Given the description of an element on the screen output the (x, y) to click on. 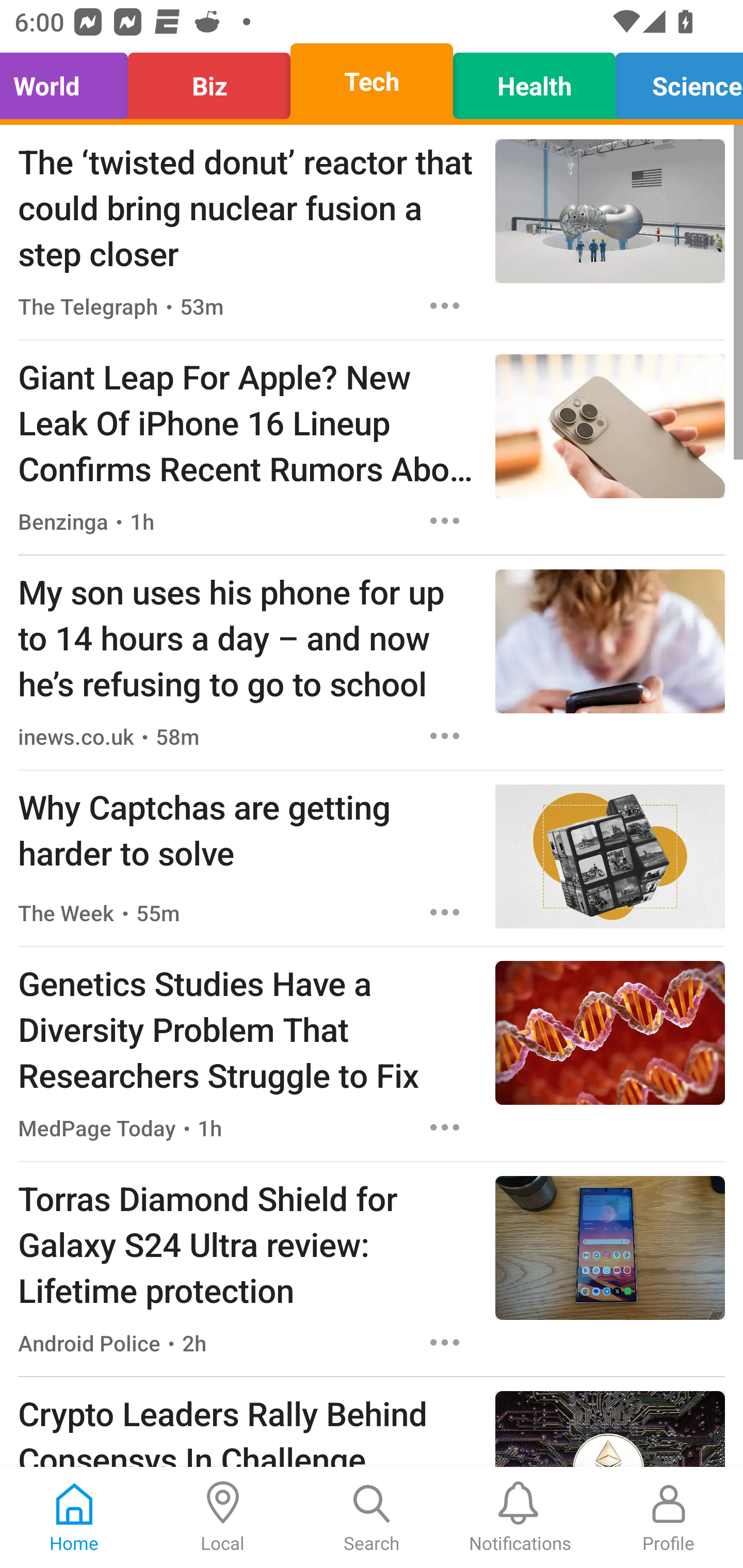
World (69, 81)
Biz (209, 81)
Tech (371, 81)
Health (534, 81)
Science (673, 81)
Options (444, 305)
Options (444, 520)
Options (444, 736)
Options (444, 912)
Options (444, 1127)
Options (444, 1342)
Local (222, 1517)
Search (371, 1517)
Notifications (519, 1517)
Profile (668, 1517)
